Given the description of an element on the screen output the (x, y) to click on. 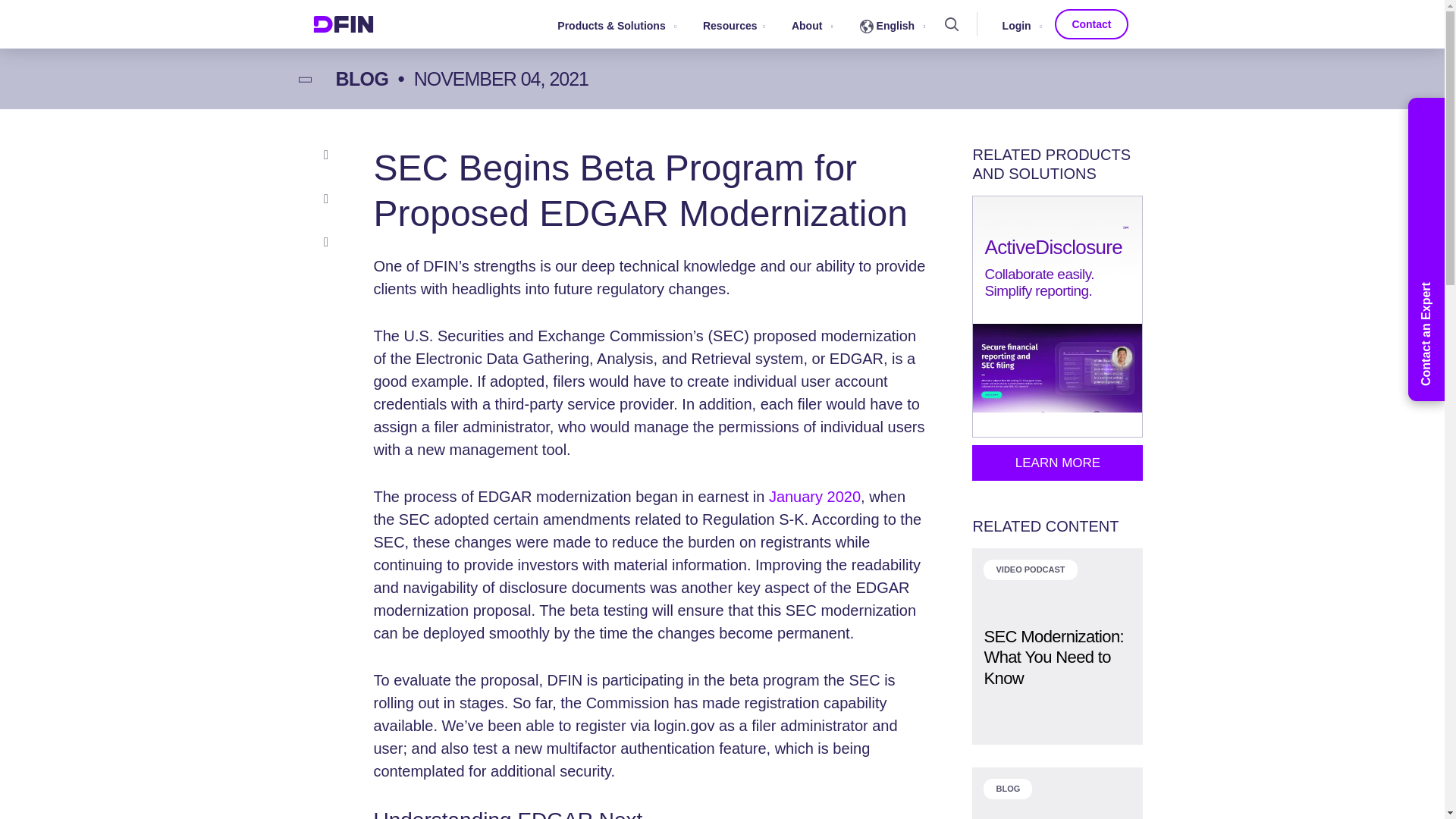
Home (342, 23)
Learn More (1057, 462)
Skip to main content (721, 1)
